Given the description of an element on the screen output the (x, y) to click on. 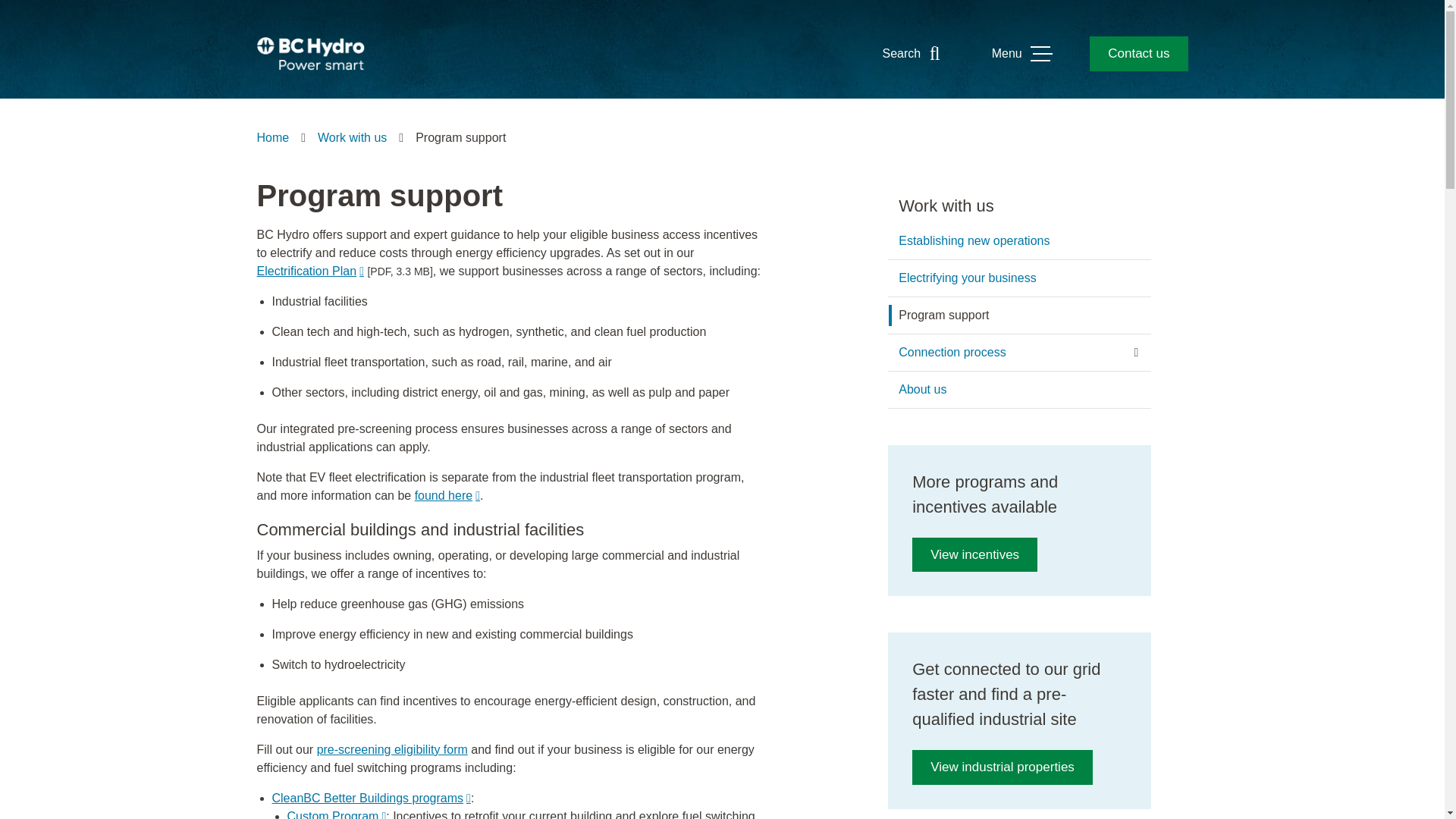
Menu (1021, 53)
Contact us (1138, 53)
Search (915, 53)
